Given the description of an element on the screen output the (x, y) to click on. 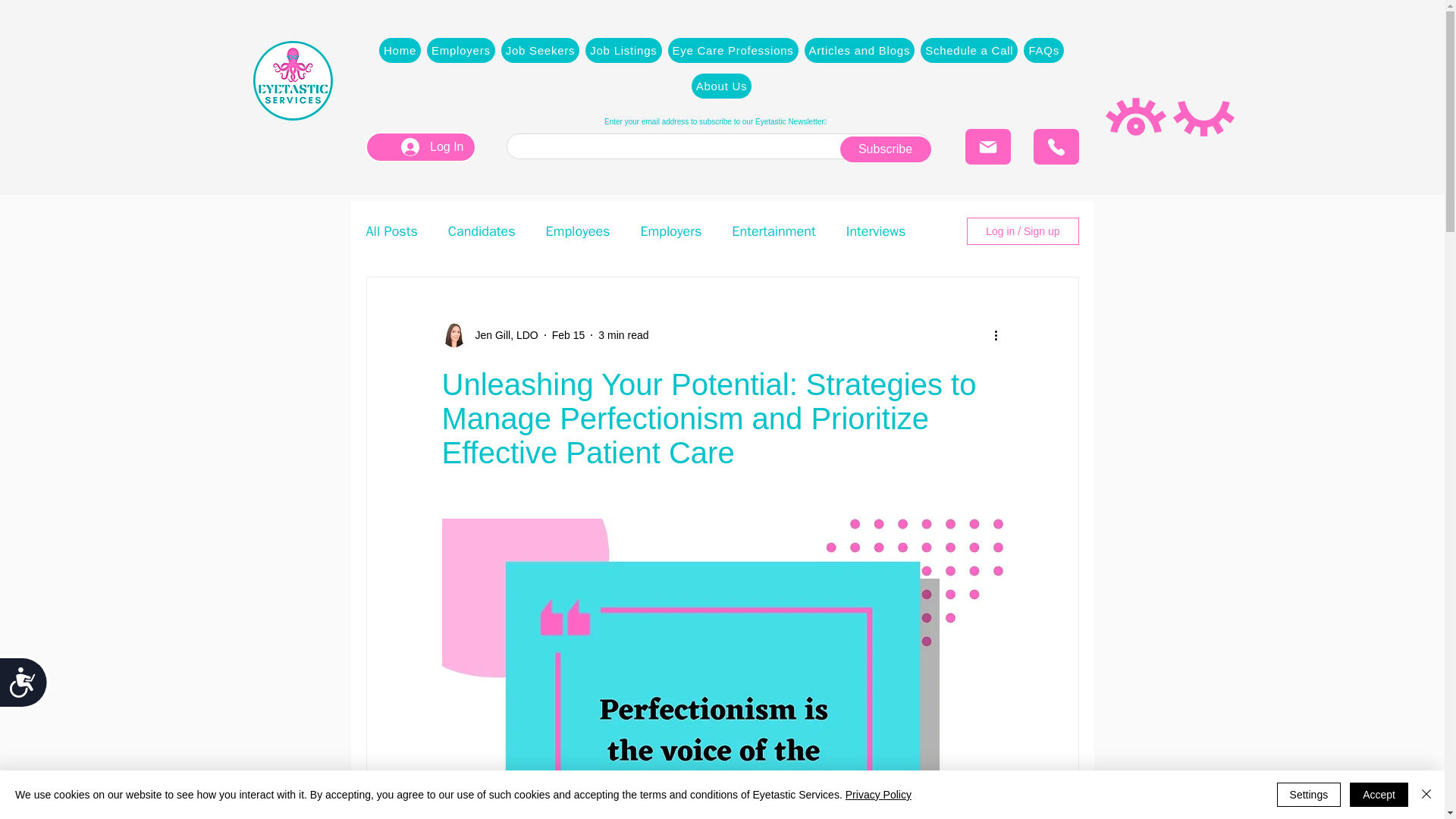
Eye Care Professions (731, 50)
Jen Gill, LDO (489, 334)
About Us (721, 85)
Subscribe (885, 149)
Home (399, 50)
FAQs (1043, 50)
Interviews (875, 230)
Schedule a Call (968, 50)
Articles and Blogs (860, 50)
Employers (460, 50)
